Given the description of an element on the screen output the (x, y) to click on. 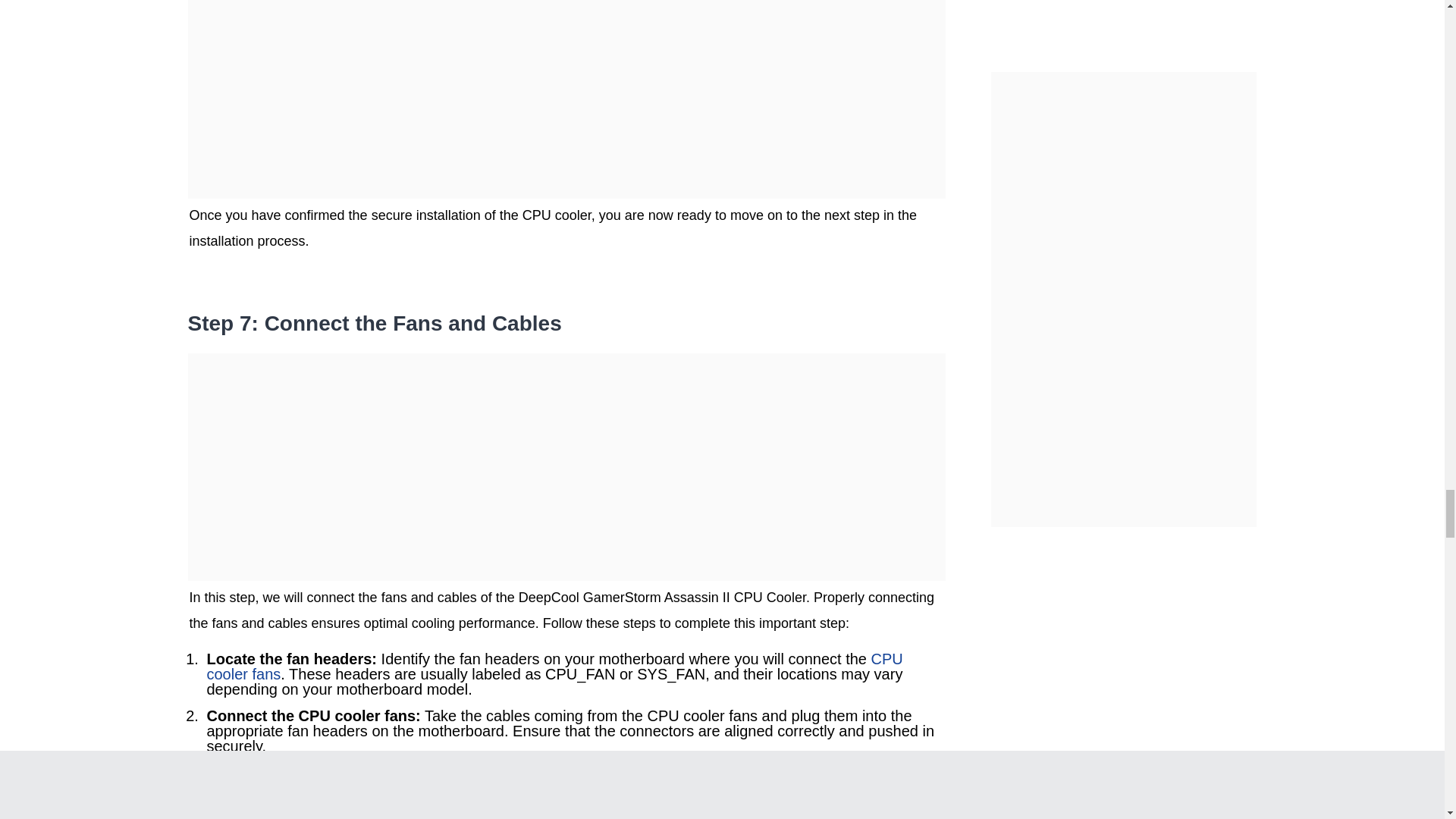
CPU cooler fans (554, 666)
